Given the description of an element on the screen output the (x, y) to click on. 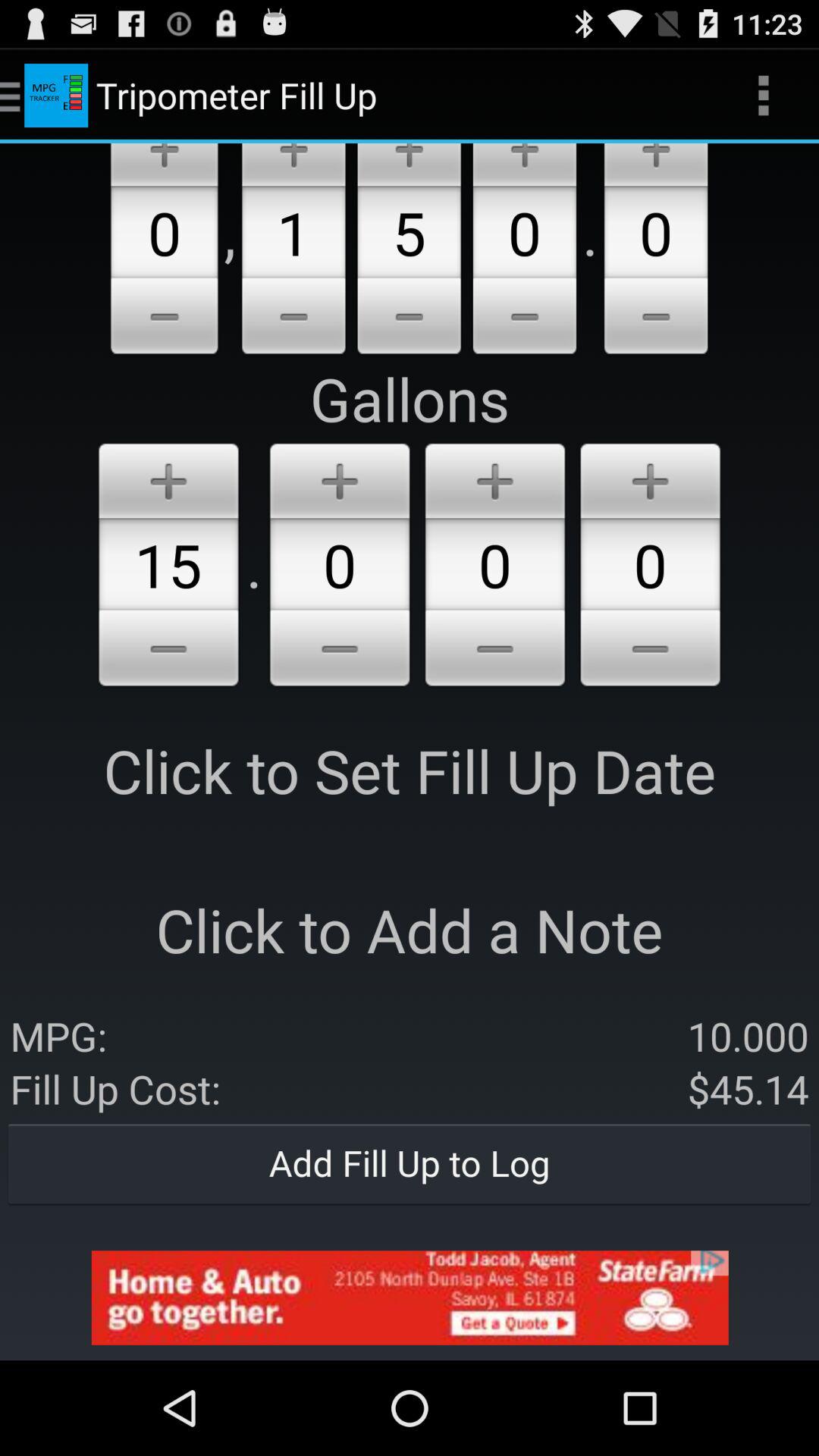
add the additional gallons (655, 164)
